Given the description of an element on the screen output the (x, y) to click on. 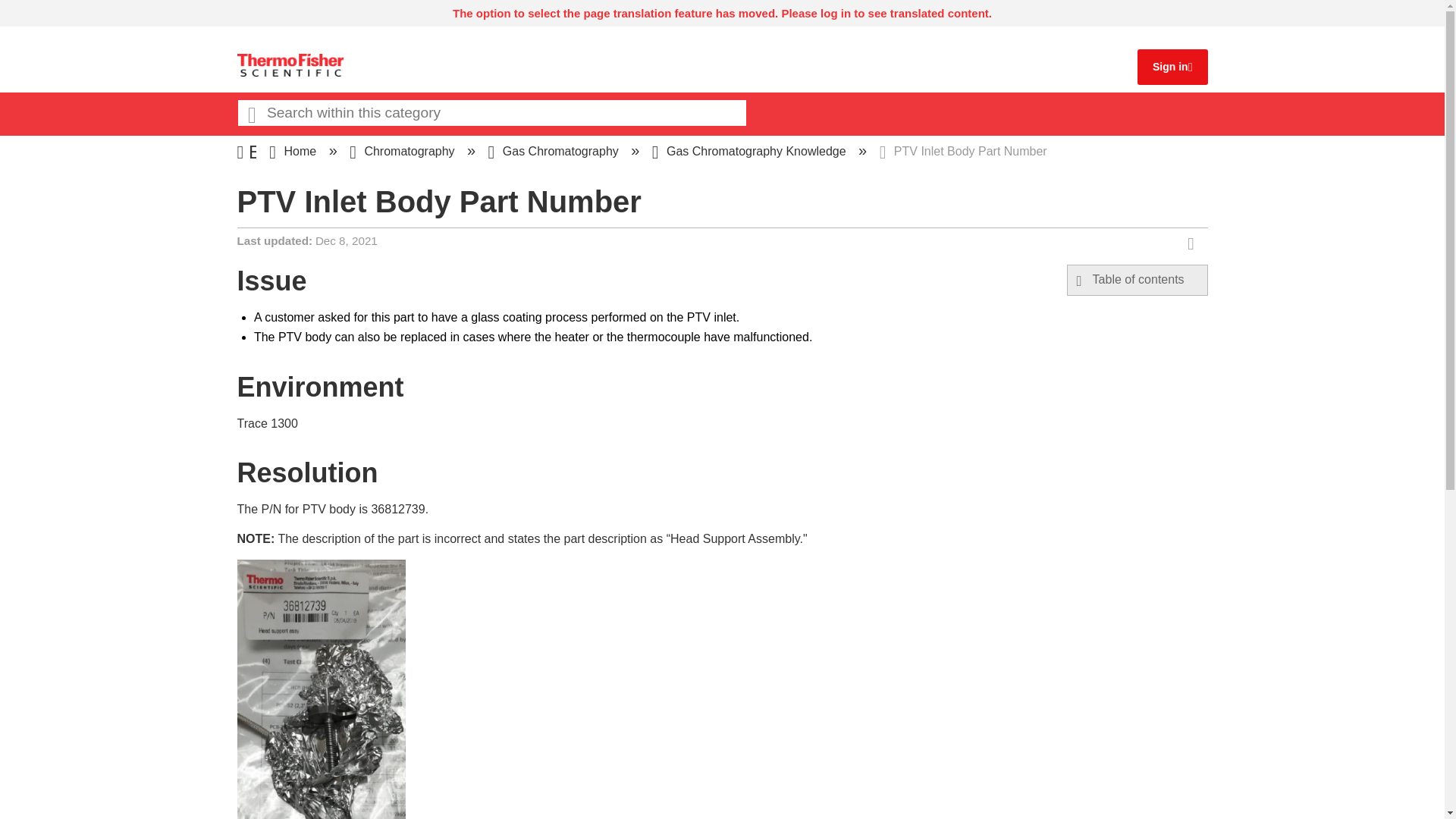
Gas Chromatography (555, 151)
Table of contents (1137, 280)
Sign in (1170, 67)
Chromatography (403, 151)
Gas Chromatography Knowledge (750, 151)
Home (293, 151)
Search (250, 113)
